Given the description of an element on the screen output the (x, y) to click on. 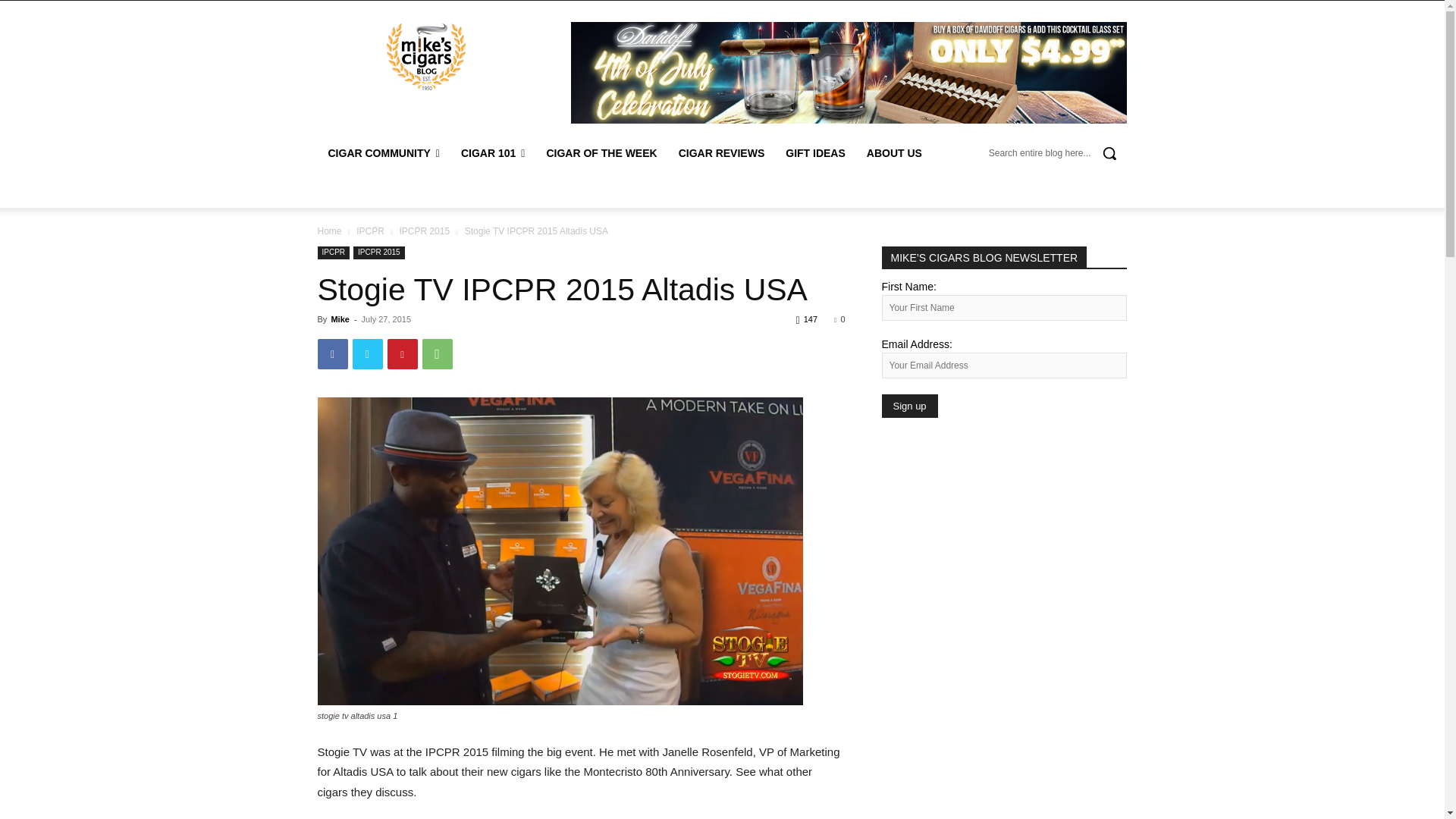
View all posts in IPCPR 2015 (423, 231)
Facebook (332, 354)
WhatsApp (436, 354)
View all posts in IPCPR (370, 231)
Mikes Cigars Blog Logo (424, 56)
CIGAR OF THE WEEK (600, 153)
CIGAR REVIEWS (722, 153)
IPCPR (370, 231)
ABOUT US (894, 153)
Home (328, 231)
Search entire blog here... (1057, 153)
CIGAR COMMUNITY (383, 153)
Sign up (908, 405)
Pinterest (401, 354)
CIGAR 101 (492, 153)
